Given the description of an element on the screen output the (x, y) to click on. 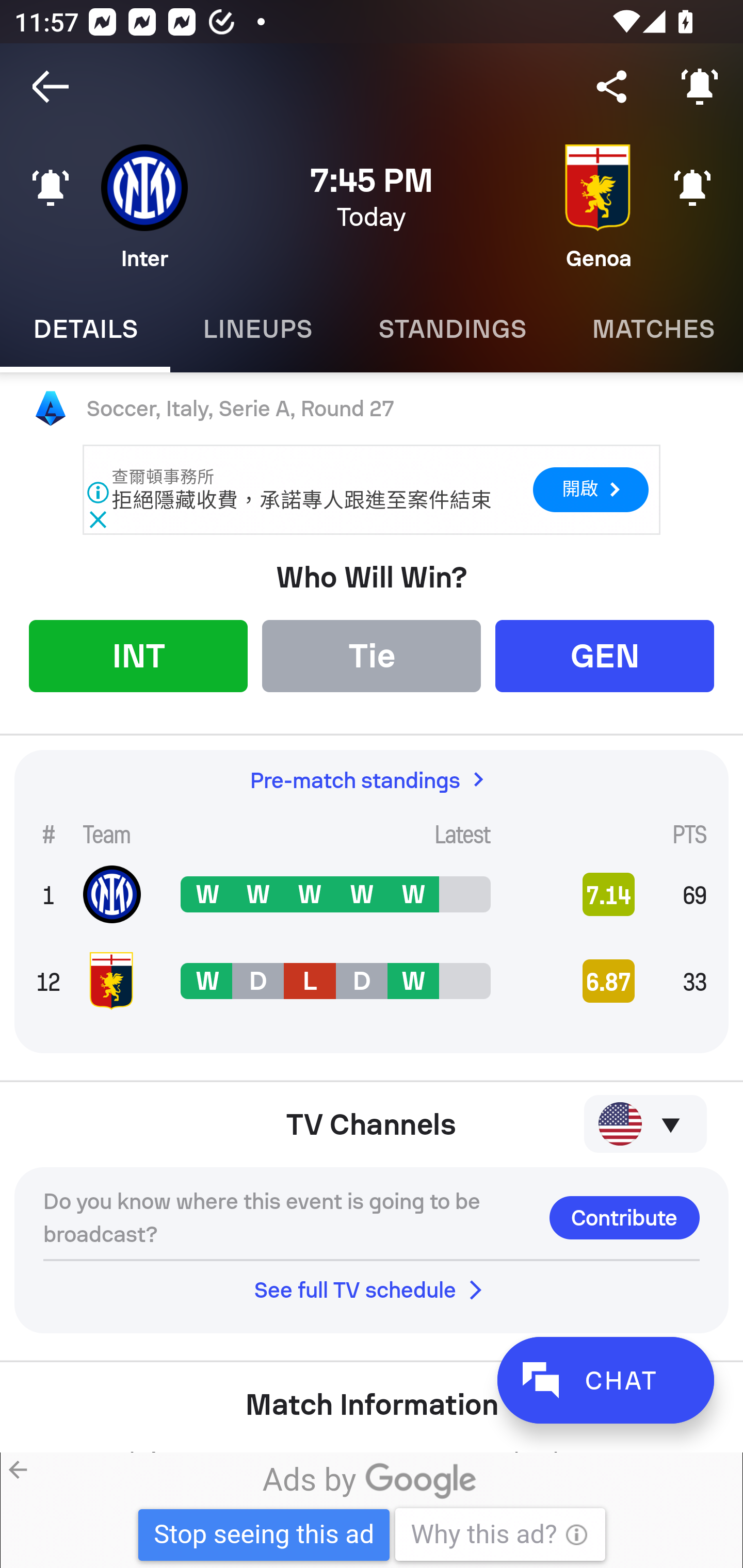
Navigate up (50, 86)
Lineups LINEUPS (257, 329)
Standings STANDINGS (451, 329)
Matches MATCHES (650, 329)
Soccer, Italy, Serie A, Round 27 (371, 409)
查爾頓事務所 (163, 476)
開啟 (590, 488)
拒絕隱藏收費，承諾專人跟進至案件結束 (301, 499)
INT (137, 655)
Tie (371, 655)
GEN (604, 655)
Contribute (624, 1217)
See full TV schedule (371, 1289)
CHAT (605, 1380)
